Given the description of an element on the screen output the (x, y) to click on. 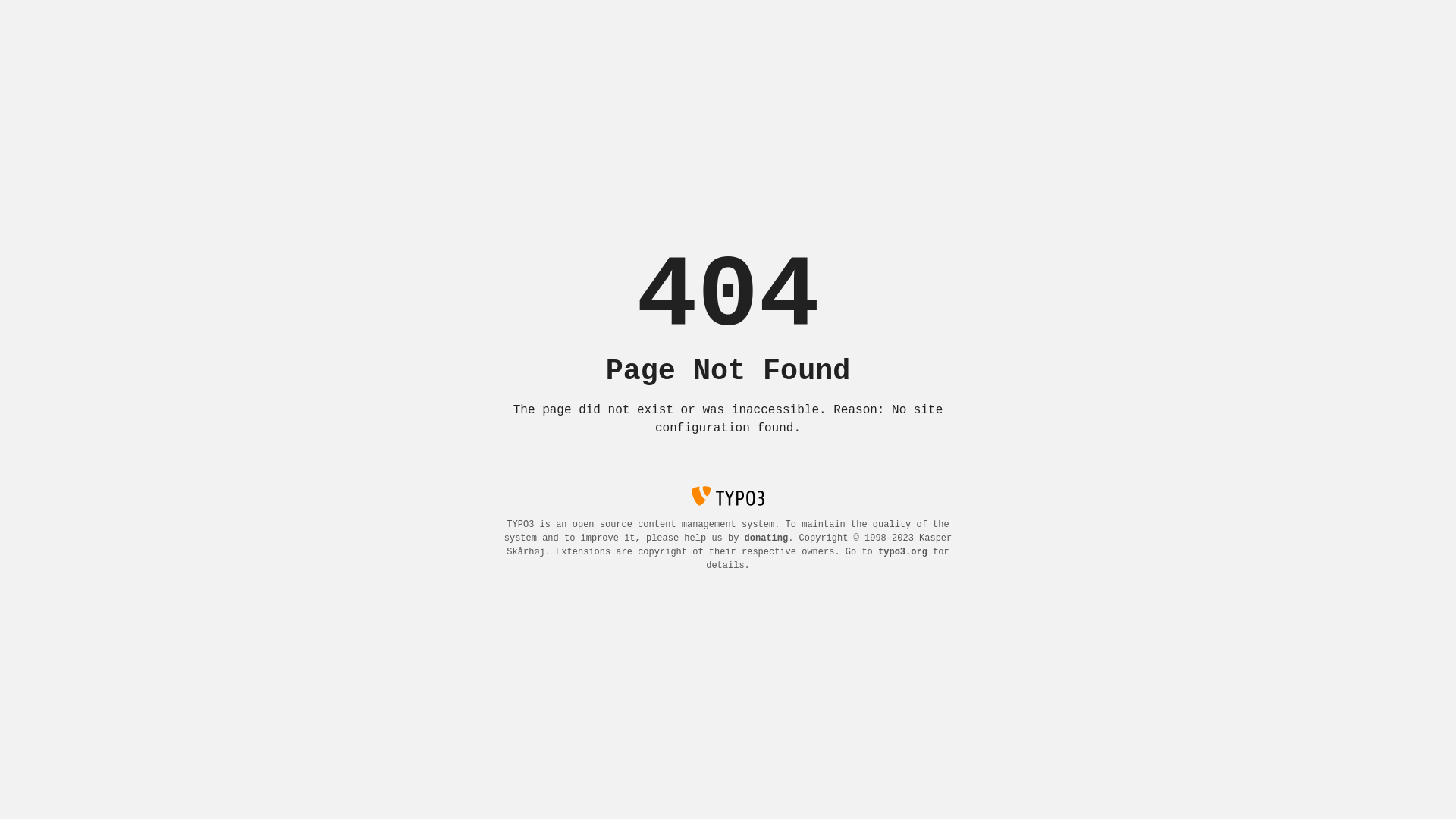
donating Element type: text (766, 538)
typo3.org Element type: text (902, 551)
